Given the description of an element on the screen output the (x, y) to click on. 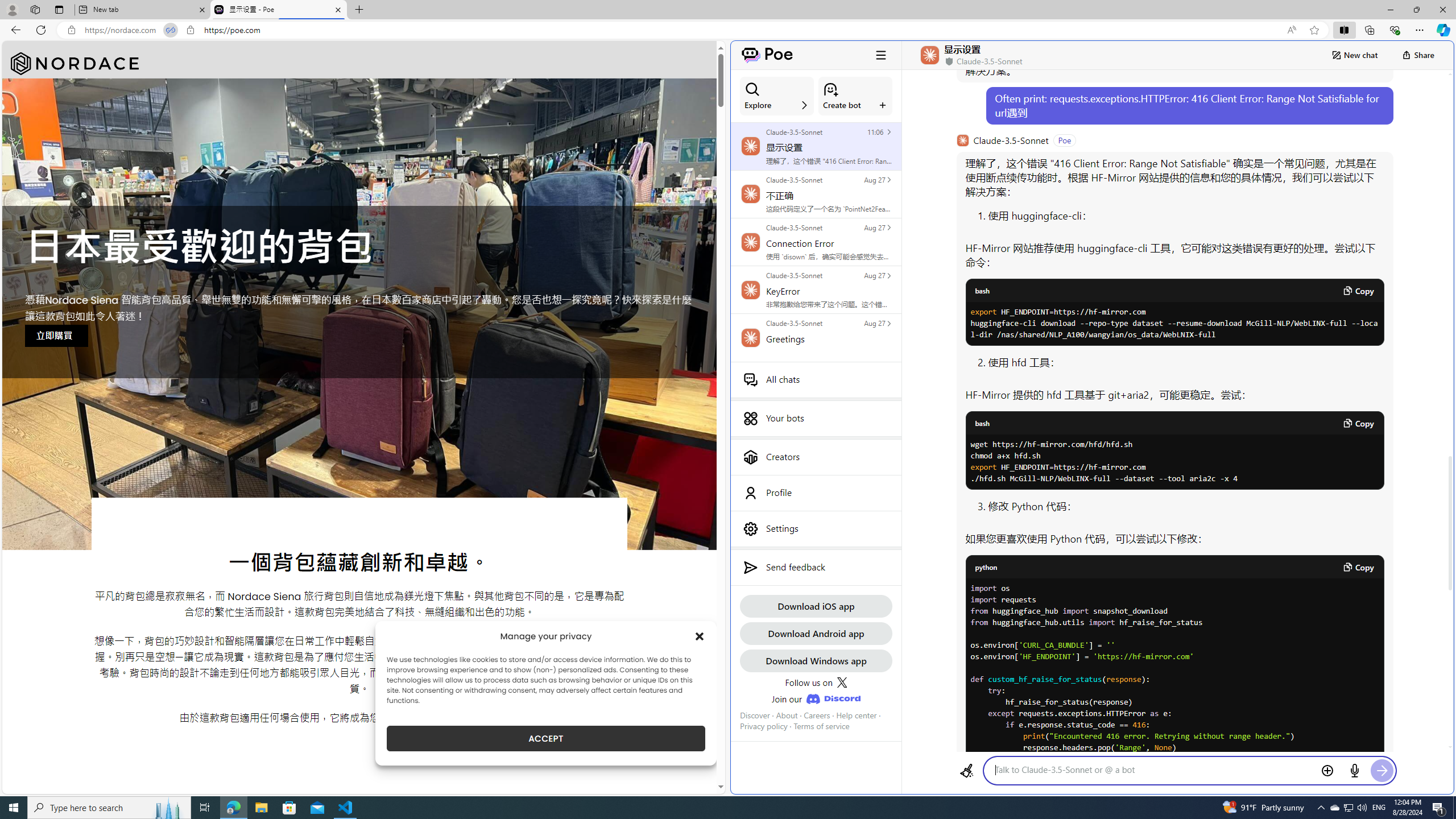
Send feedback (815, 567)
Help center (855, 714)
Tabs in split screen (170, 29)
All chats (815, 379)
Poe (766, 55)
Poe (766, 55)
Follow us on (815, 682)
Explore (776, 95)
